Given the description of an element on the screen output the (x, y) to click on. 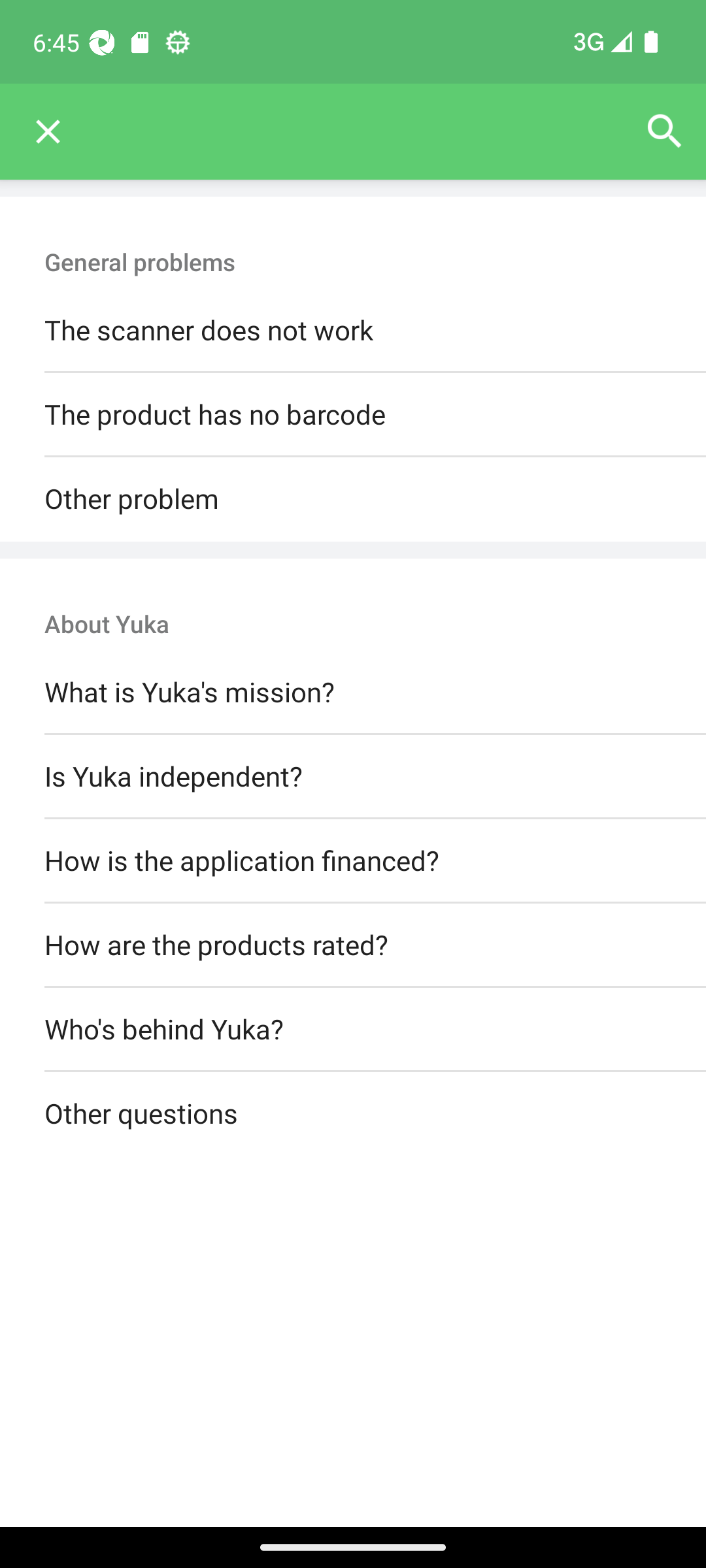
Search (664, 131)
The scanner does not work (353, 330)
The product has no barcode (353, 415)
Other problem (353, 498)
What is Yuka's mission? (353, 692)
Is Yuka independent? (353, 776)
How is the application financed? (353, 860)
How are the products rated? (353, 945)
Who's behind Yuka? (353, 1029)
Other questions (353, 1114)
